Given the description of an element on the screen output the (x, y) to click on. 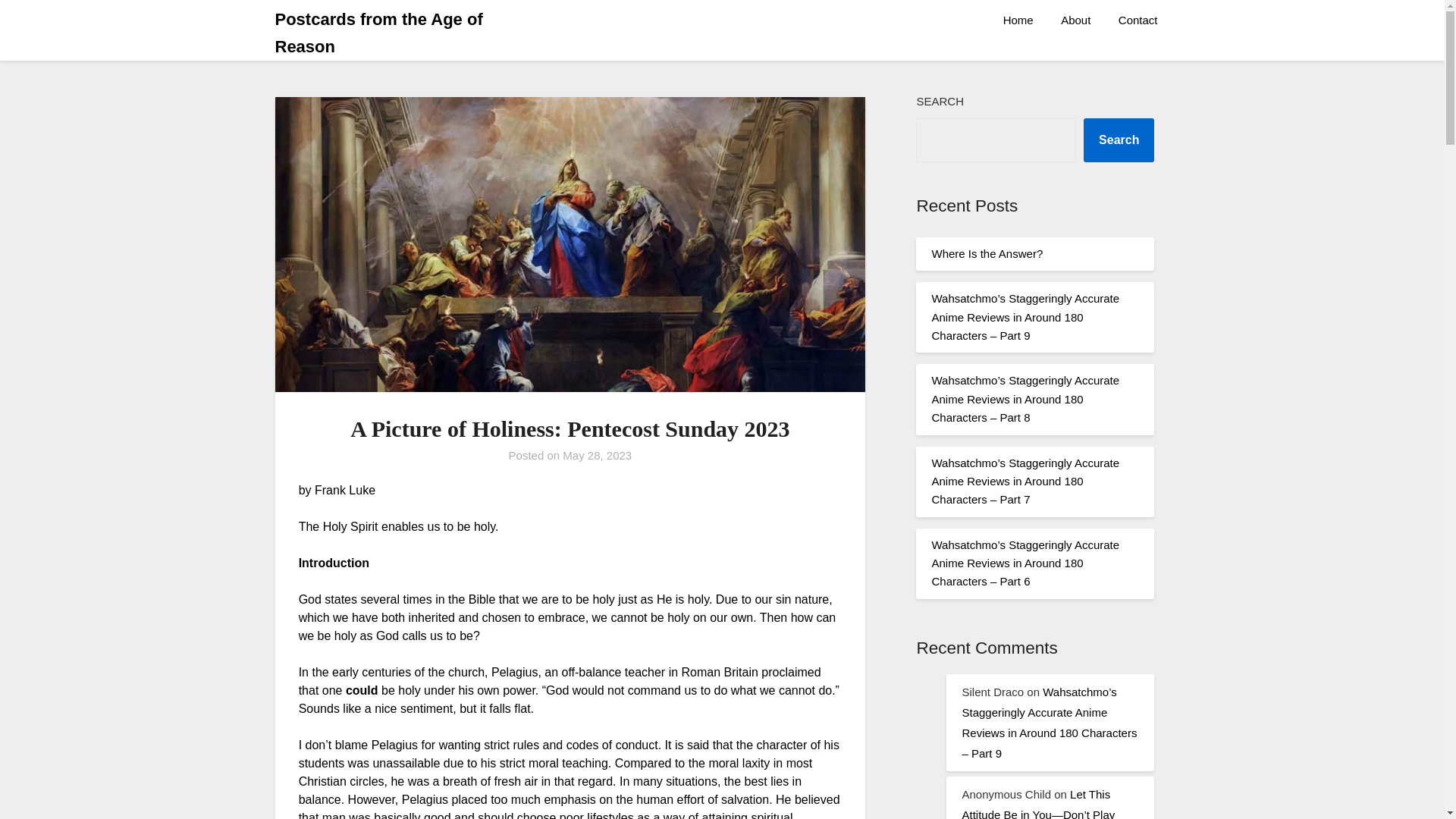
About (1075, 20)
Where Is the Answer? (986, 253)
Home (1018, 20)
Contact (1138, 20)
Postcards from the Age of Reason (409, 32)
Search (1118, 139)
May 28, 2023 (596, 454)
